Given the description of an element on the screen output the (x, y) to click on. 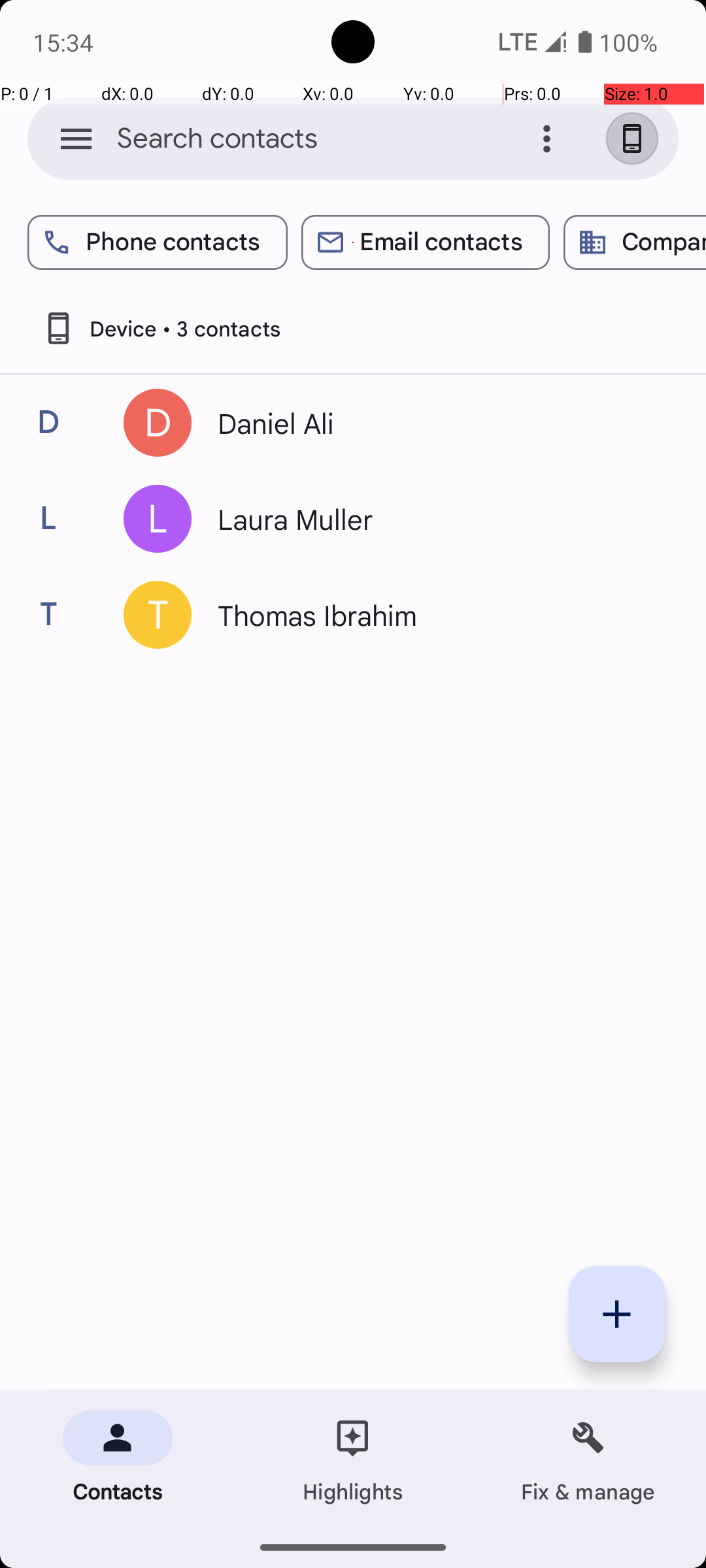
Device • 3 contacts Element type: android.widget.TextView (161, 328)
Daniel Ali Element type: android.widget.TextView (434, 422)
Laura Muller Element type: android.widget.TextView (434, 518)
Thomas Ibrahim Element type: android.widget.TextView (434, 614)
